Given the description of an element on the screen output the (x, y) to click on. 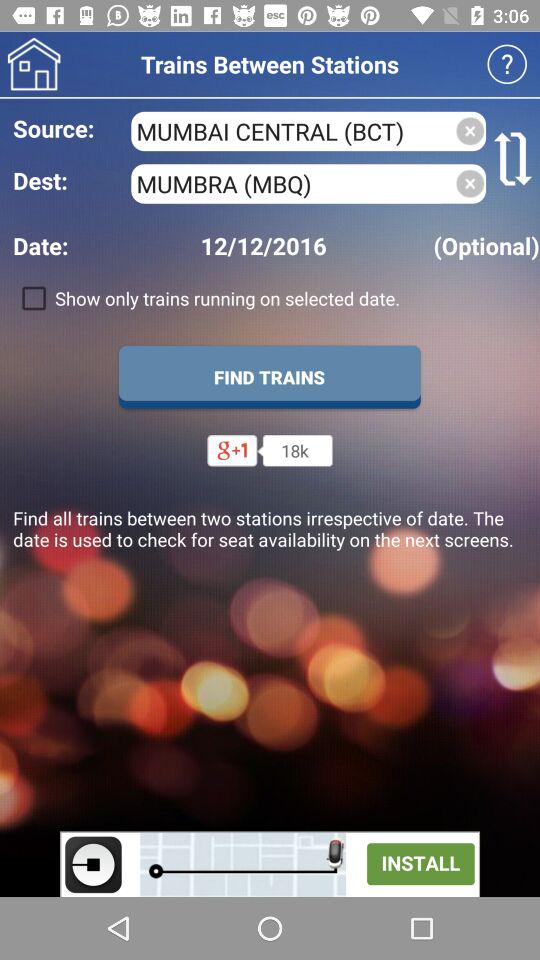
clear source (470, 131)
